Given the description of an element on the screen output the (x, y) to click on. 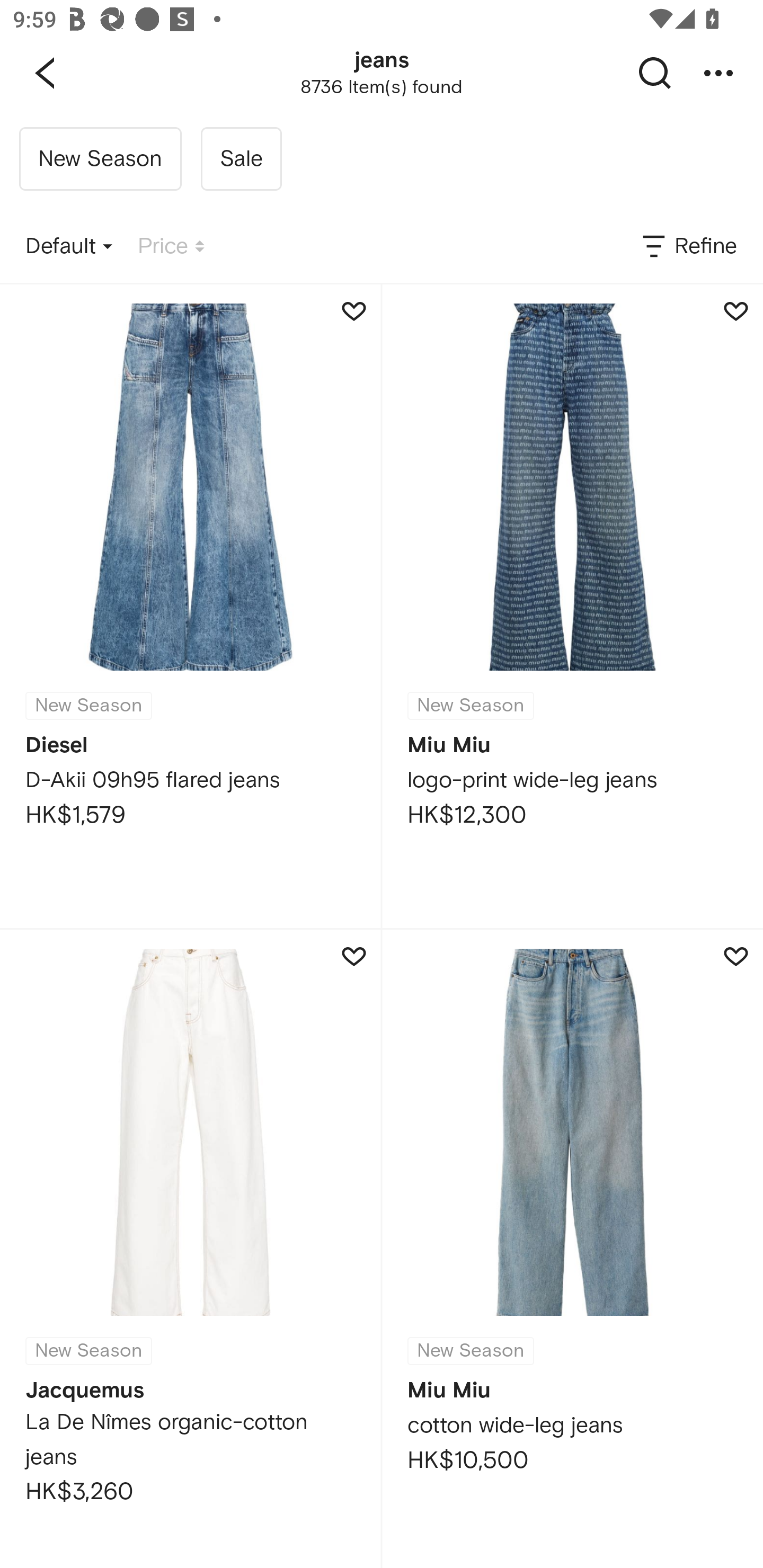
New Season (100, 158)
Sale (240, 158)
Default (68, 246)
Price (171, 246)
Refine (688, 246)
New Season Miu Miu cotton wide-leg jeans HK$10,500 (572, 1248)
